Given the description of an element on the screen output the (x, y) to click on. 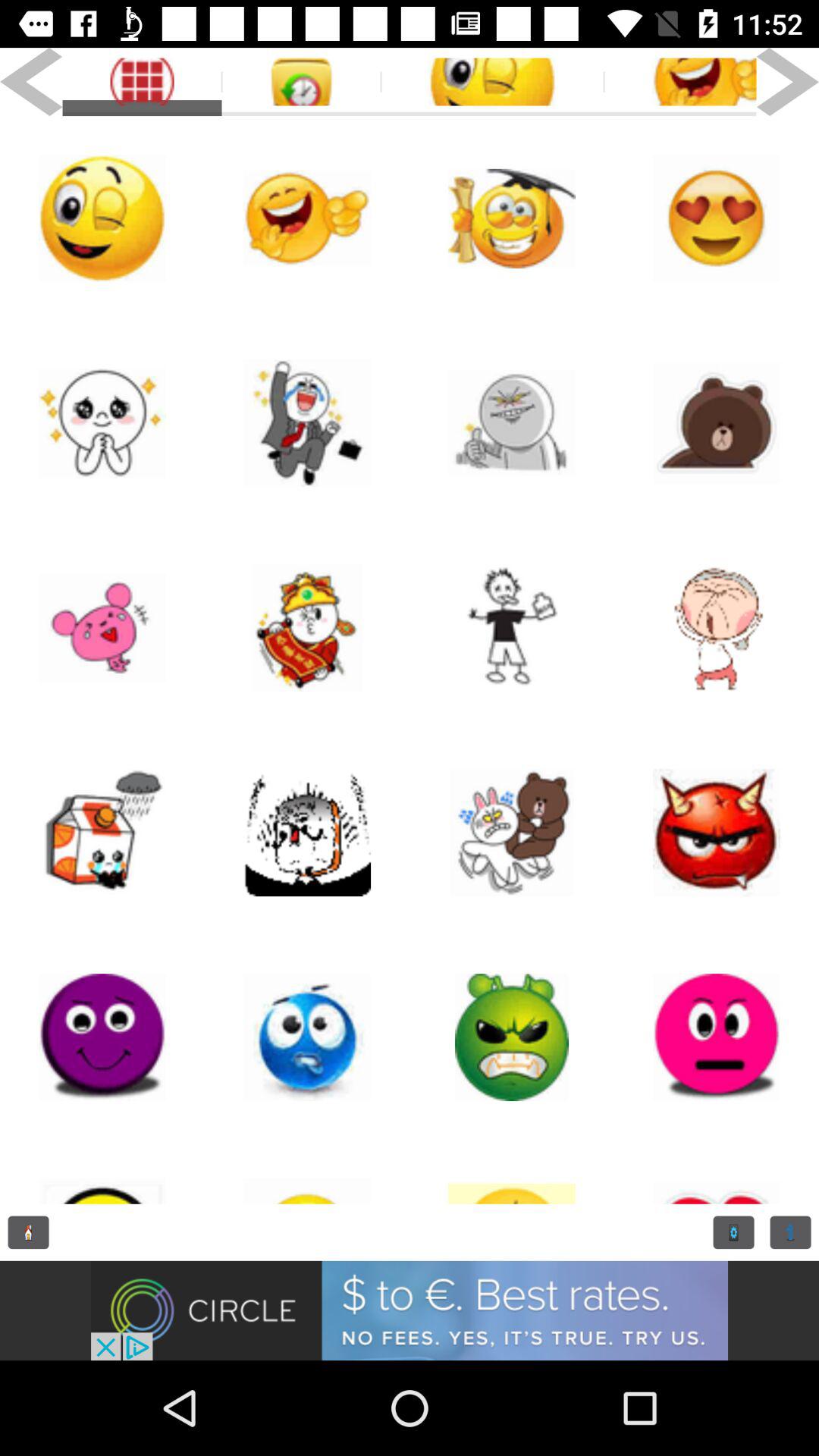
go to previous (28, 1232)
